Given the description of an element on the screen output the (x, y) to click on. 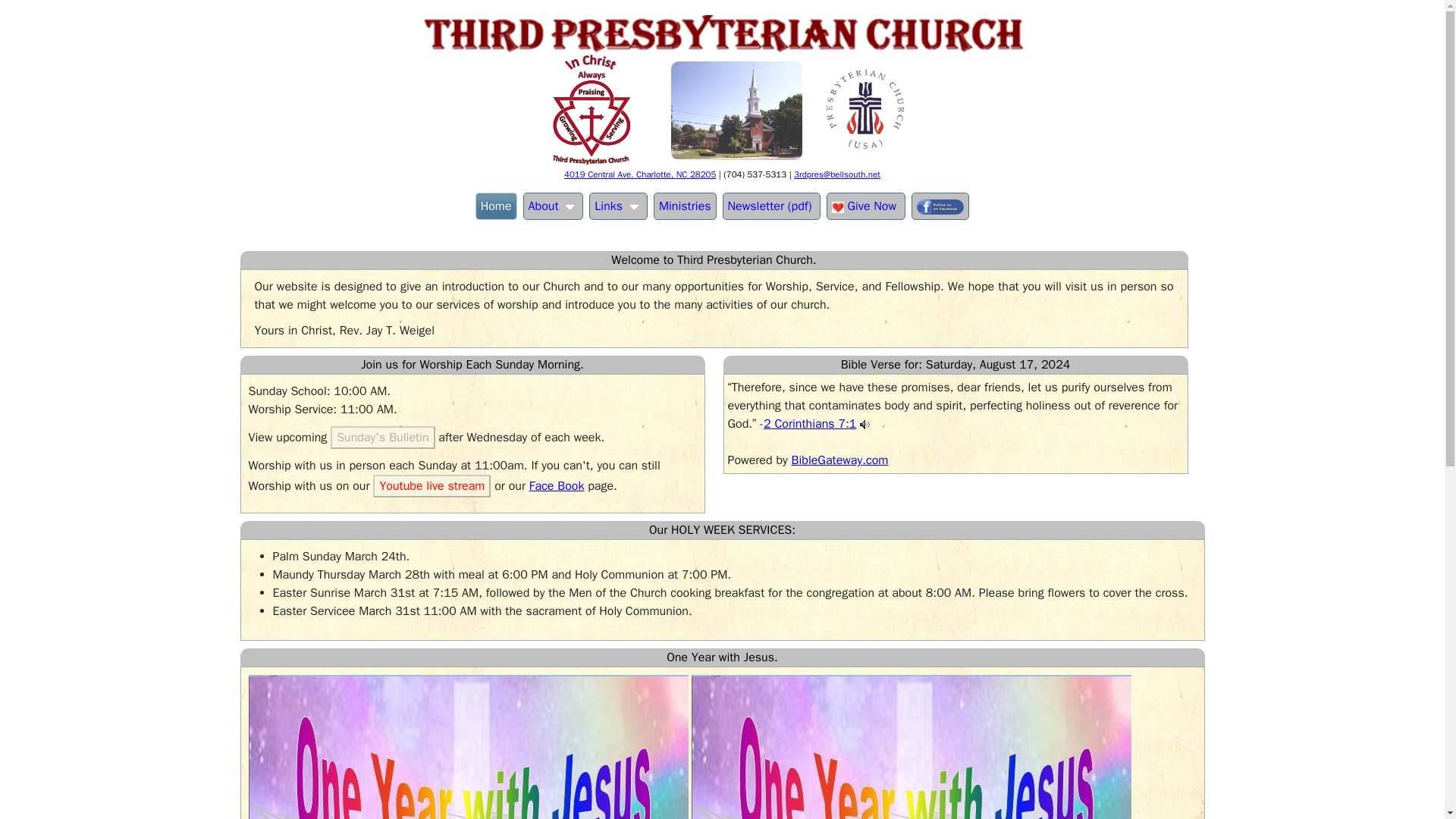
Youtube live stream (431, 485)
Third Presbyterian Churcn Google Map Location (736, 110)
Click to open book (468, 746)
Third Presbyterian Churcn Google Map Location (640, 173)
Ministries (684, 206)
Links to some Presbyterian websites (618, 206)
Presbyterian USA Website (864, 110)
Links (618, 206)
 Give Now  (866, 206)
BibleGateway.com (840, 459)
